Given the description of an element on the screen output the (x, y) to click on. 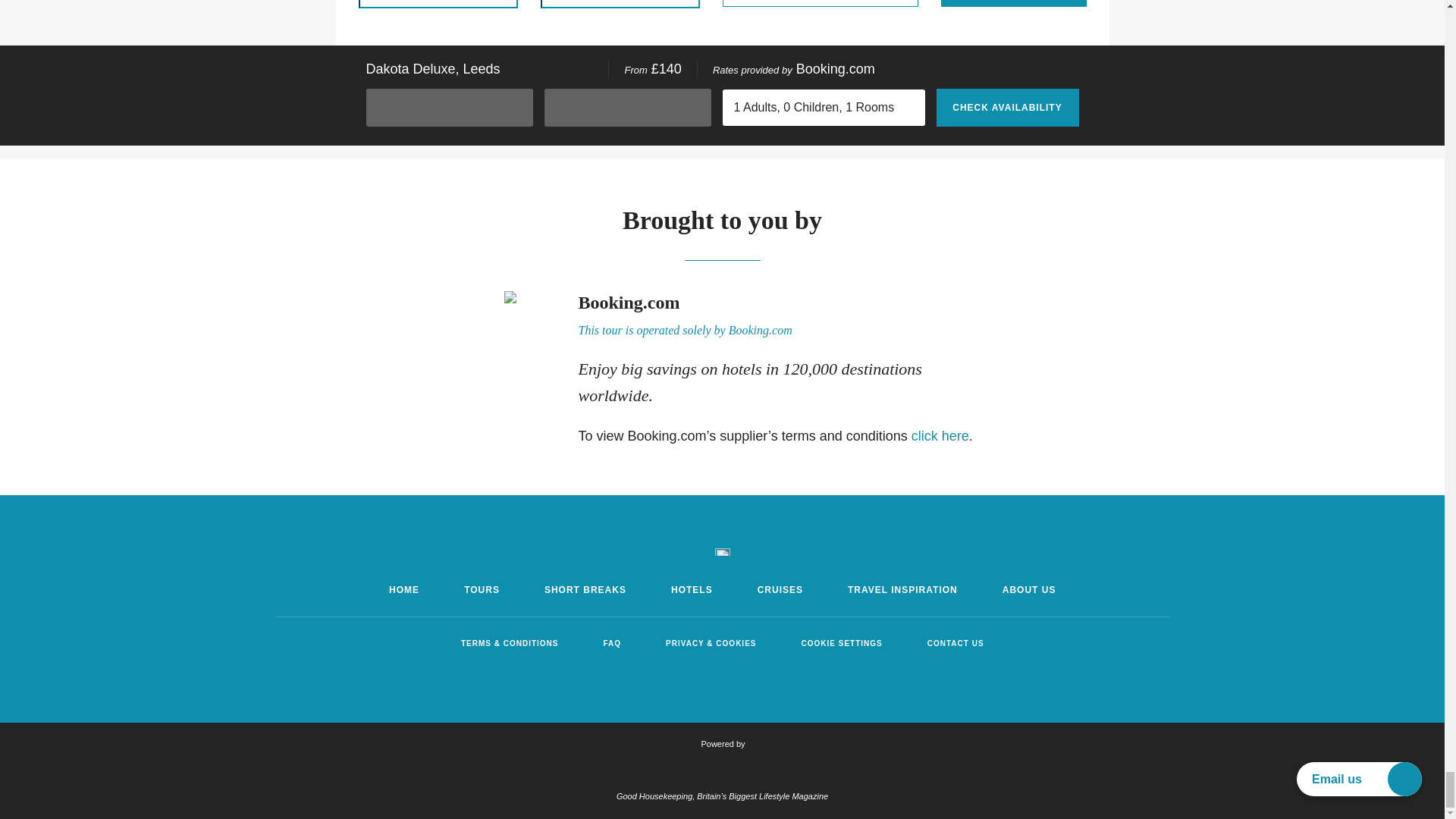
CHECK AVAILABILITY (1013, 3)
1 Adults, 0 Children, 1 Rooms (819, 3)
click here (940, 435)
